Given the description of an element on the screen output the (x, y) to click on. 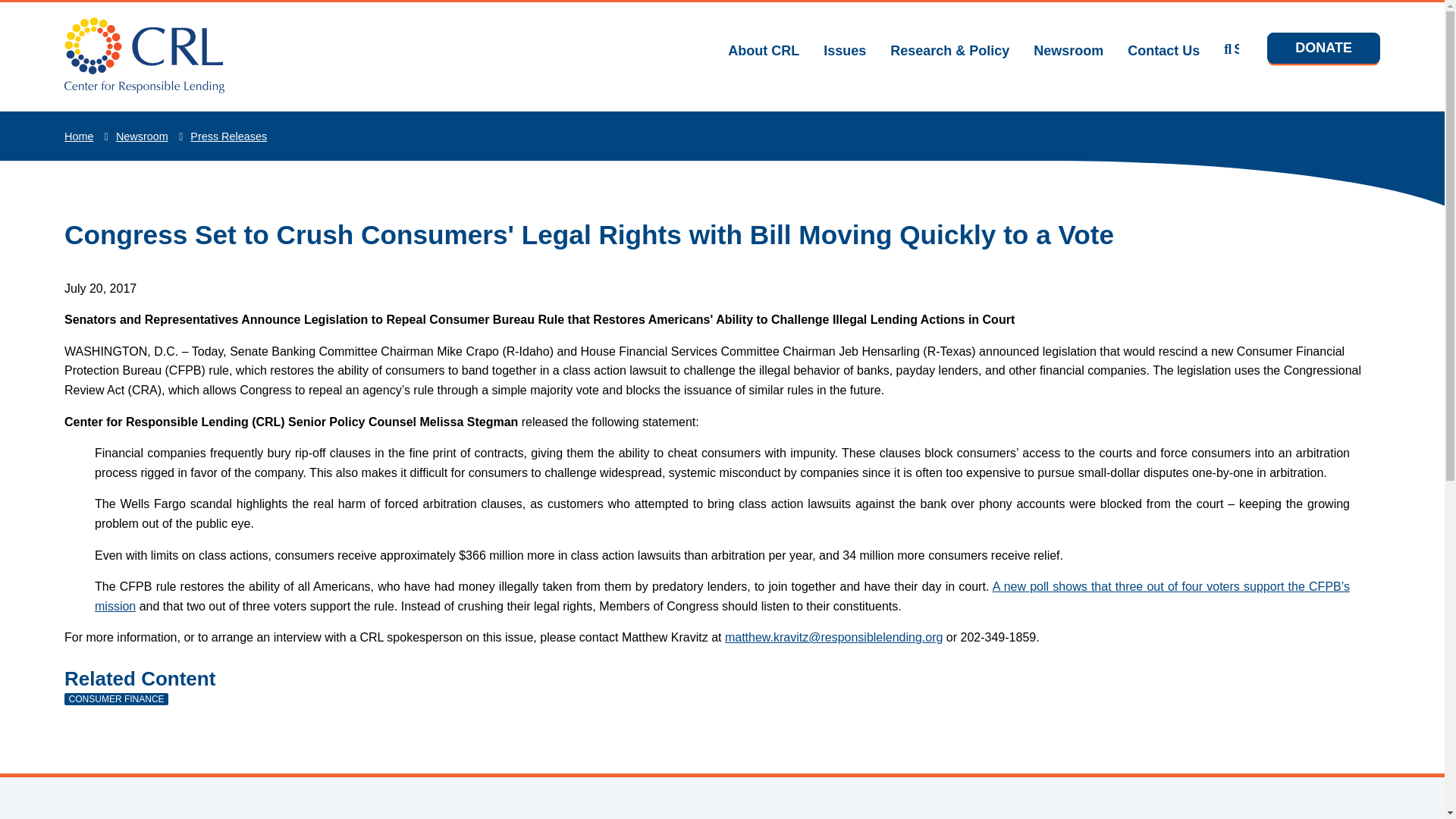
DONATE (1323, 47)
Contact Us (1162, 50)
About CRL (763, 50)
Issues (845, 50)
Newsroom (1068, 50)
